Given the description of an element on the screen output the (x, y) to click on. 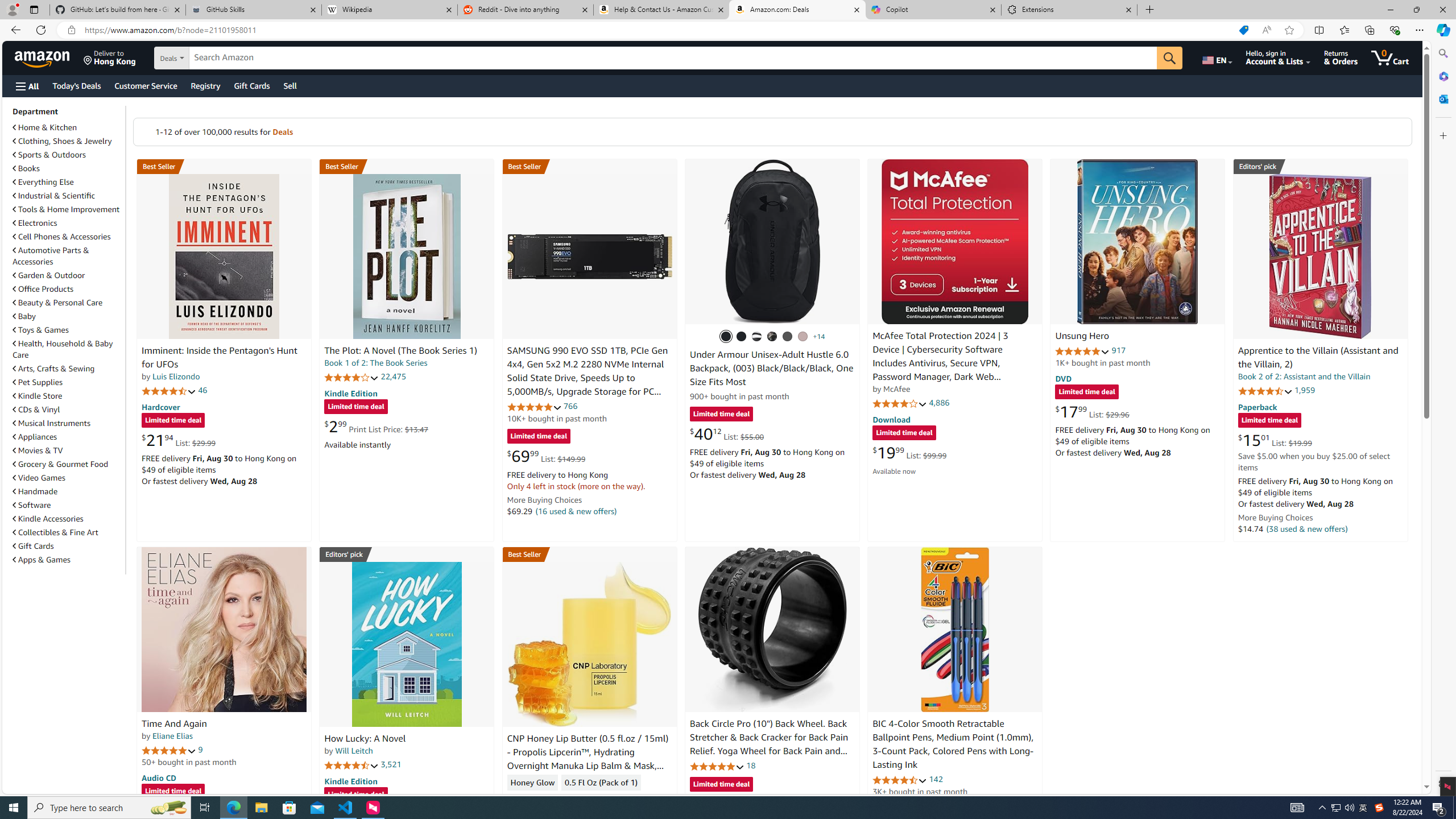
917 (1117, 350)
Today's Deals (76, 85)
Luis Elizondo (175, 376)
Beauty & Personal Care (67, 301)
4.1 out of 5 stars (899, 403)
Grocery & Gourmet Food (61, 463)
(005) Black Full Heather / Black / Metallic Gold (788, 336)
22,475 (393, 376)
Kindle Edition (350, 780)
(003) Black / Black / Black (725, 336)
$21.94 List: $29.99 (178, 439)
Home & Kitchen (45, 127)
